Given the description of an element on the screen output the (x, y) to click on. 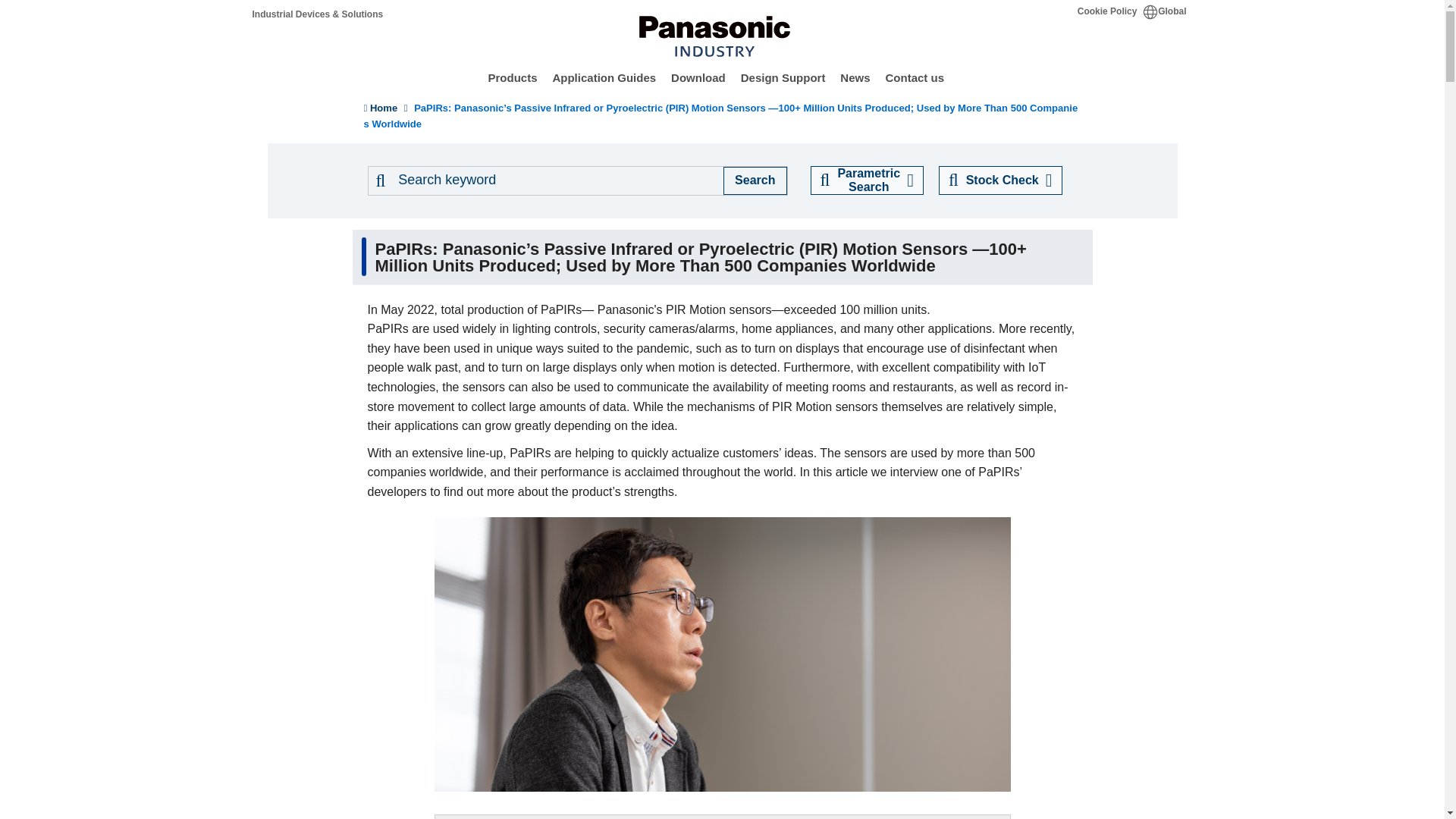
Cookie Policy (1107, 10)
Home (316, 14)
Products (512, 76)
Application Guides (603, 76)
Global (1164, 10)
Search by product (556, 180)
